Given the description of an element on the screen output the (x, y) to click on. 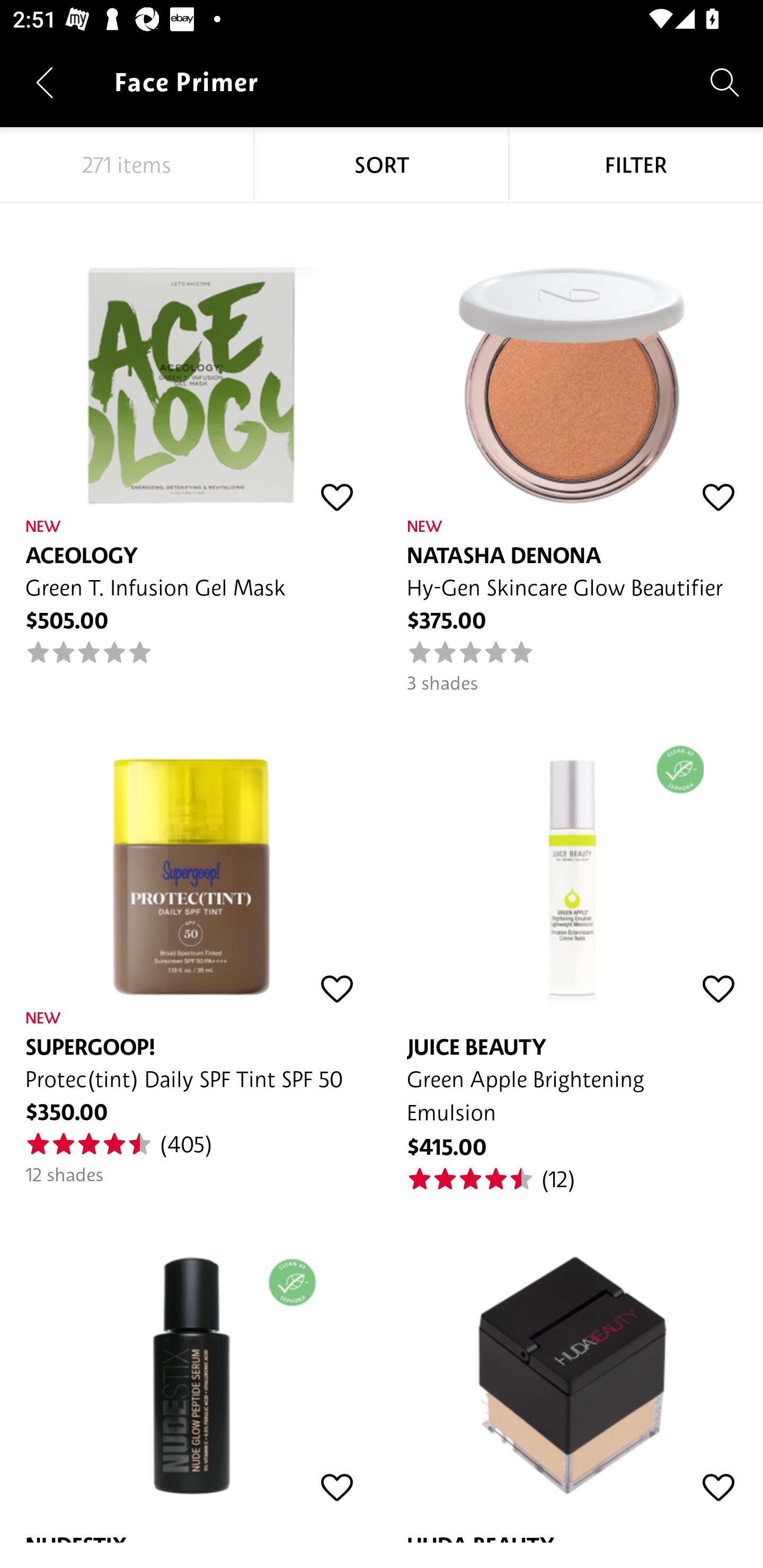
Navigate up (44, 82)
Search (724, 81)
SORT (381, 165)
FILTER (636, 165)
NEW ACEOLOGY Green T. Infusion Gel Mask $505.00 (190, 434)
NUDESTIX Nude Glow Peptide Serum (190, 1367)
